Given the description of an element on the screen output the (x, y) to click on. 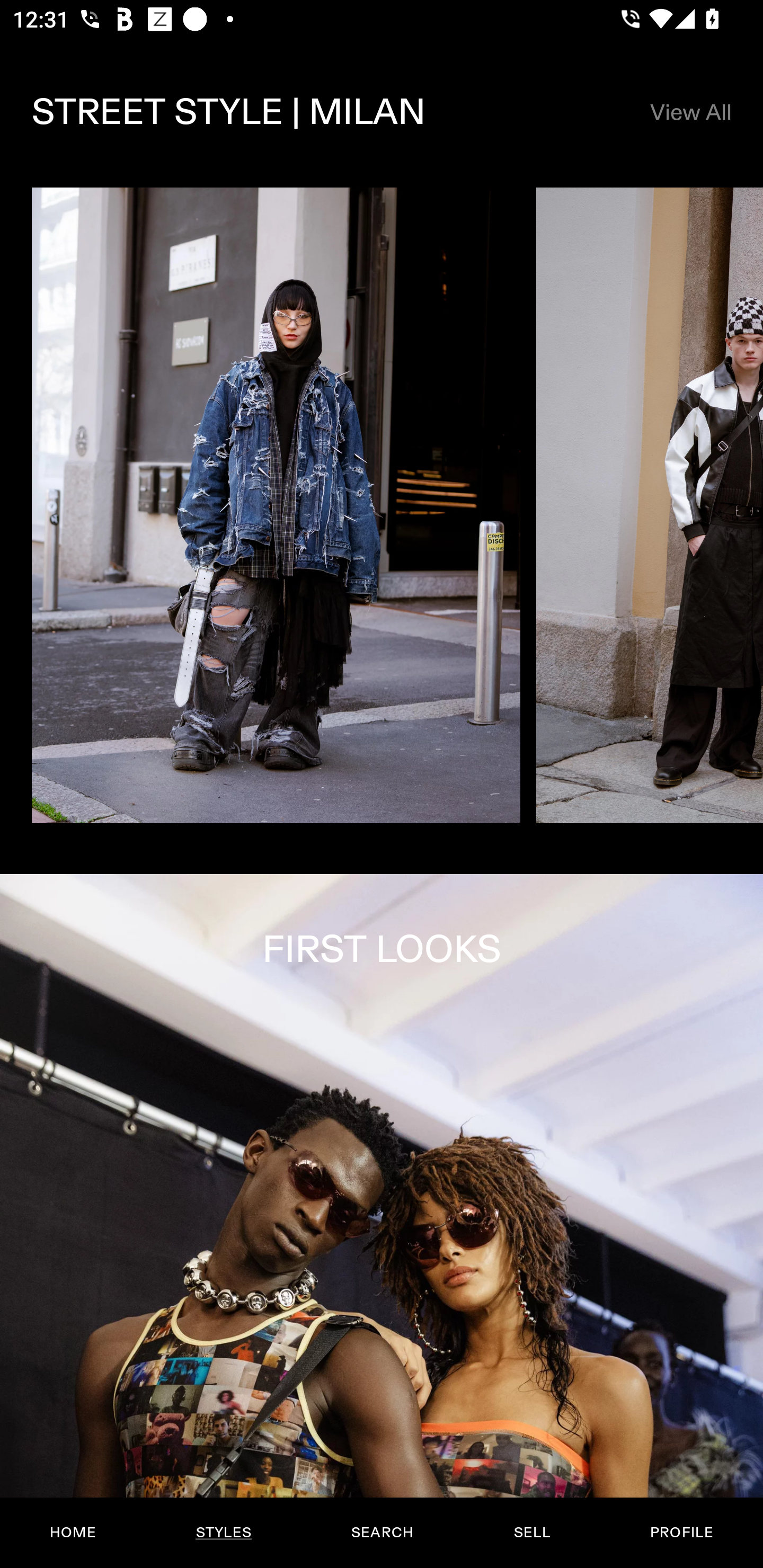
View All (690, 112)
FIRST LOOKS DIESEL FALL '24 (381, 1220)
HOME (72, 1532)
STYLES (222, 1532)
SEARCH (381, 1532)
SELL (531, 1532)
PROFILE (681, 1532)
